Given the description of an element on the screen output the (x, y) to click on. 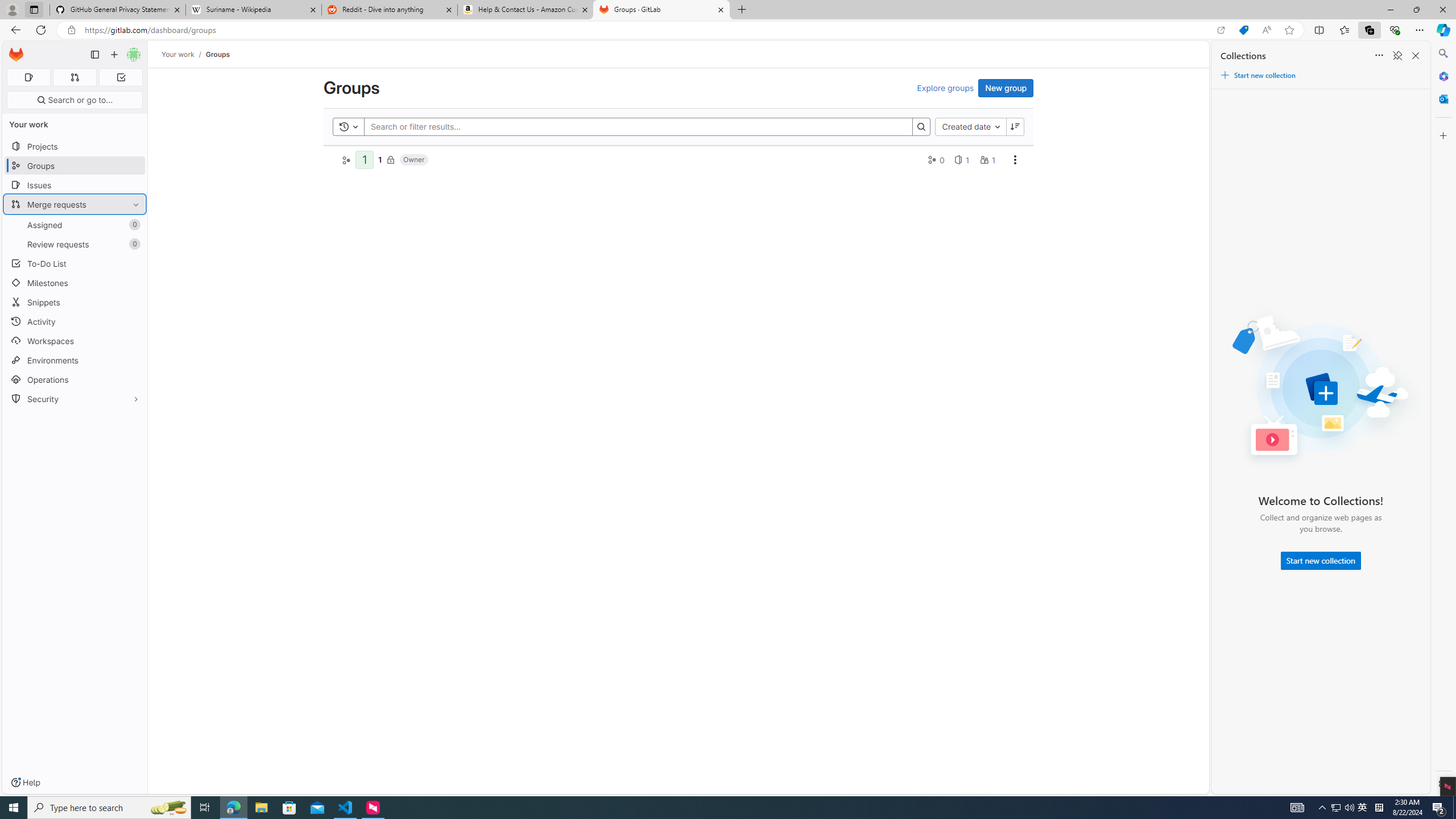
Sort direction: Descending (1015, 126)
Groups (217, 53)
Merge requestsAssigned0Review requests0 (74, 223)
AutomationID: dropdown-toggle-btn-41 (1015, 158)
New group (1005, 87)
Close Collections (1415, 55)
Operations (74, 379)
Assigned issues 0 (28, 76)
